Given the description of an element on the screen output the (x, y) to click on. 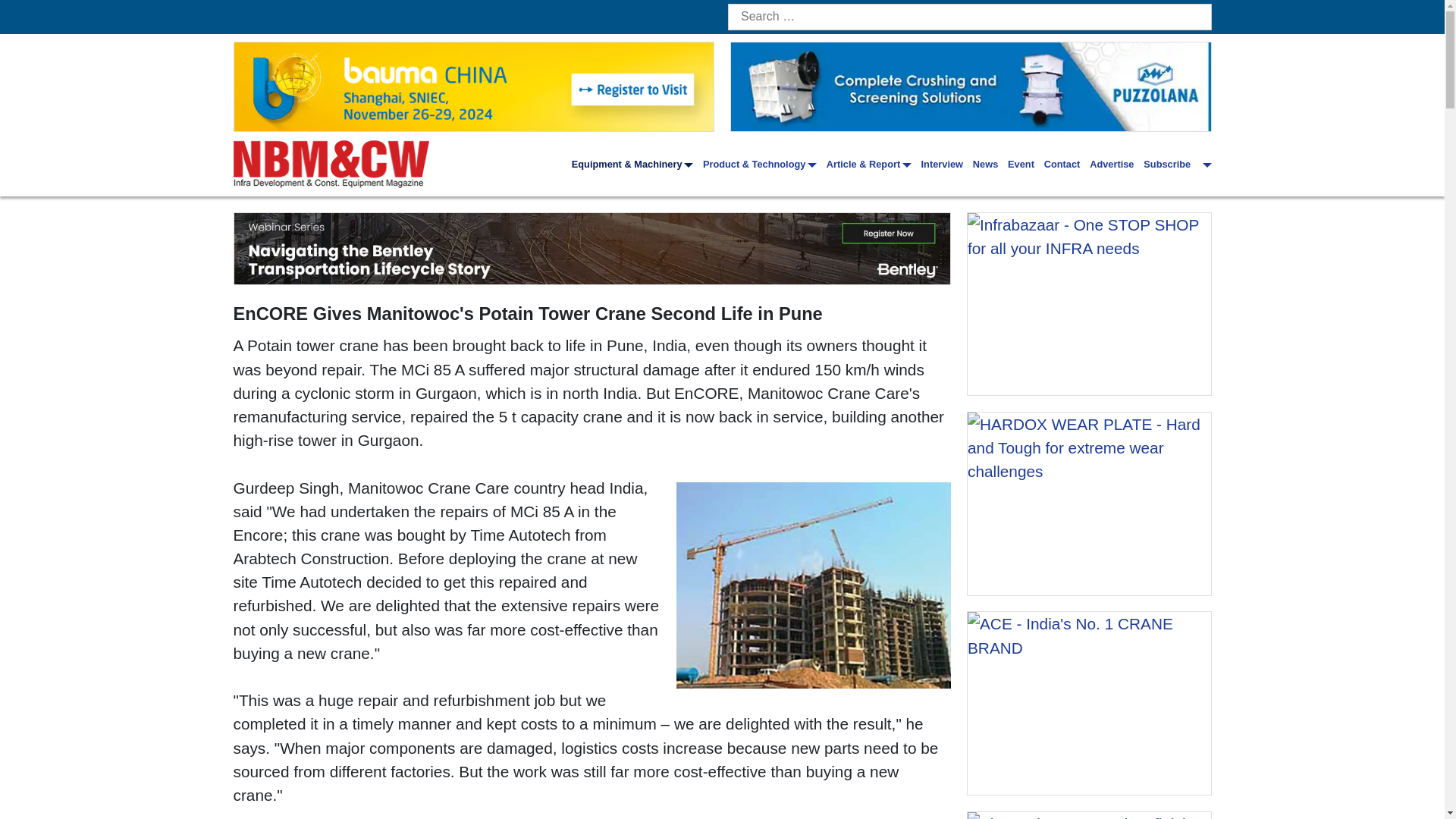
Navigating the Bentley Transportation Lifecycle Story (591, 248)
Manitowoc Crane (814, 585)
ACE - India's No. 1 CRANE BRAND (1089, 702)
Puzzolana - Complete Crushing and Screening Solutions (970, 86)
bauma China - 26 - 29 November 2024 - Shanghai (472, 86)
Infrabazaar - One STOP SHOP for all your INFRA needs (1089, 303)
